Given the description of an element on the screen output the (x, y) to click on. 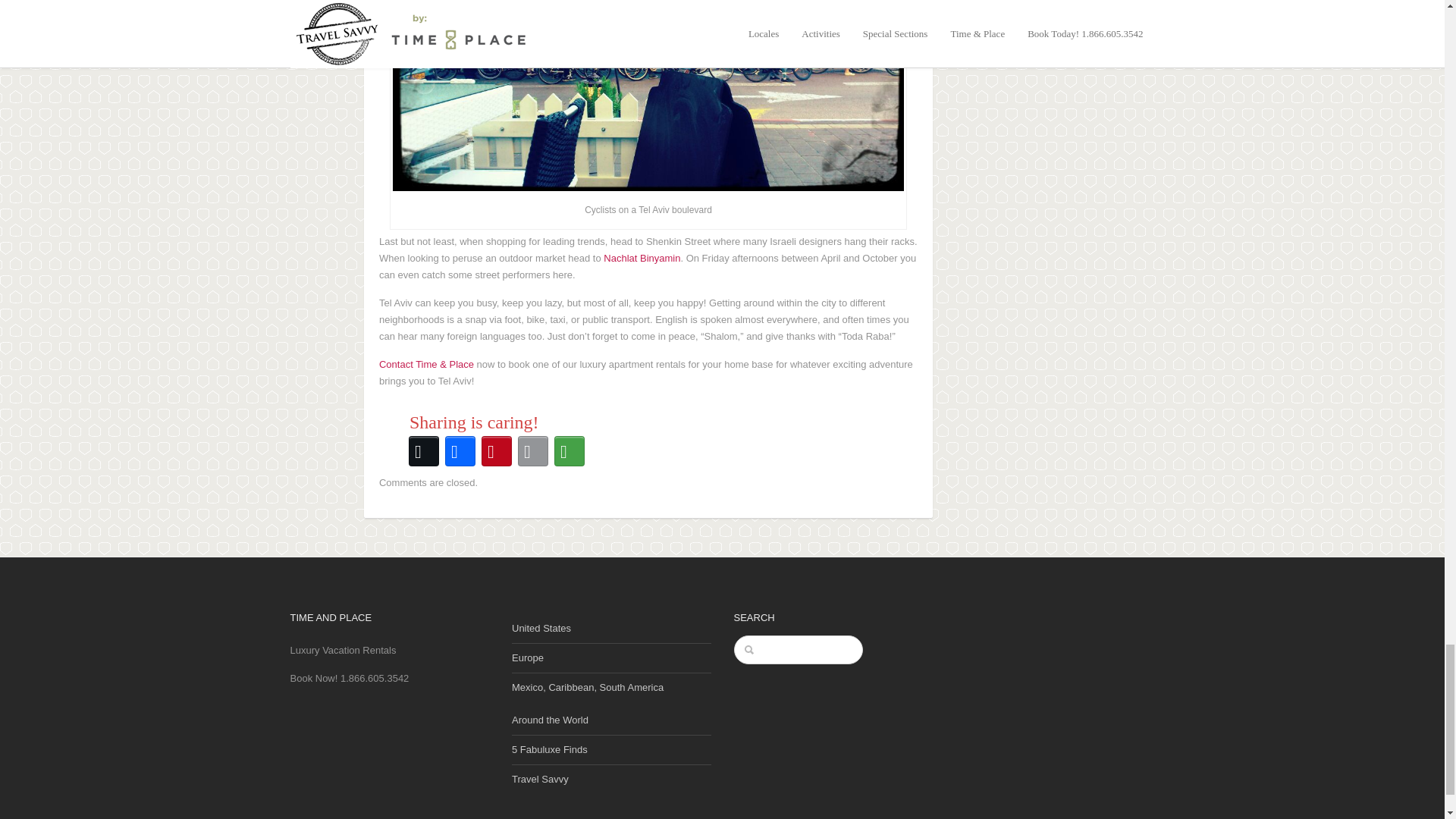
Facebook (460, 451)
More Options (569, 451)
Email This (533, 451)
Pinterest (497, 451)
